Given the description of an element on the screen output the (x, y) to click on. 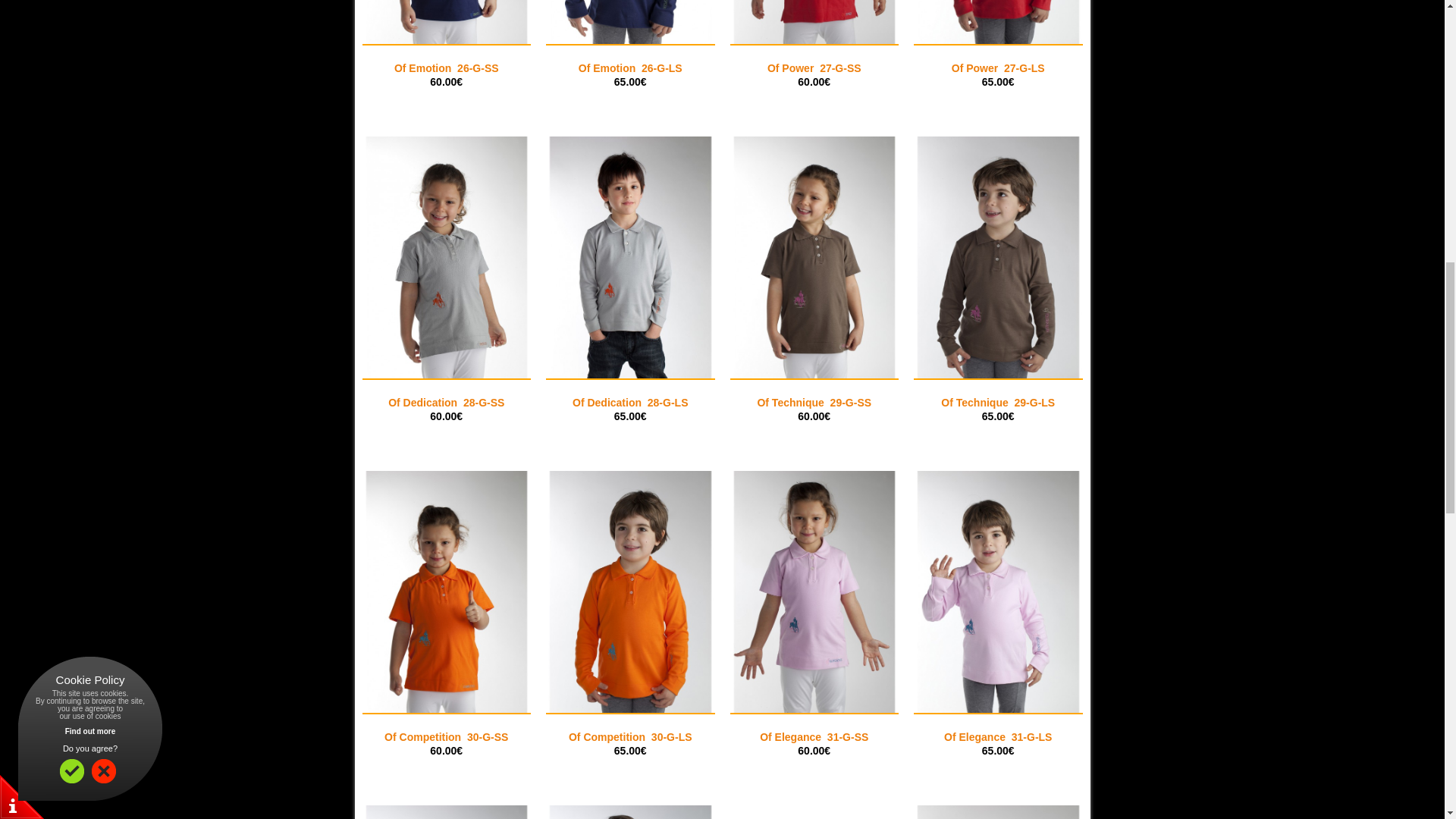
Of Power (813, 22)
Of Emotion (446, 22)
Of Emotion (630, 22)
Of Power (998, 22)
